Given the description of an element on the screen output the (x, y) to click on. 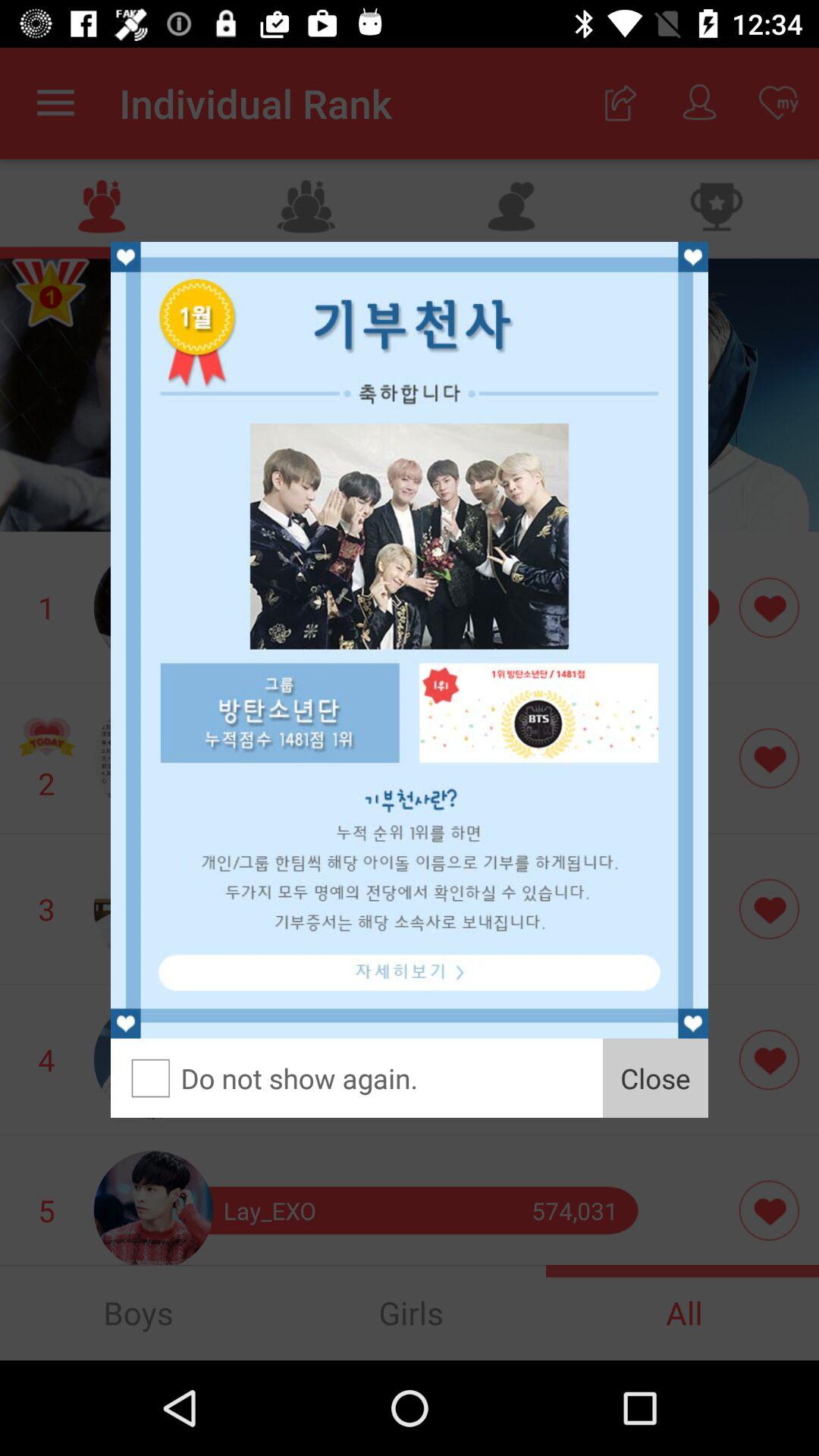
for advertisement (409, 640)
